Given the description of an element on the screen output the (x, y) to click on. 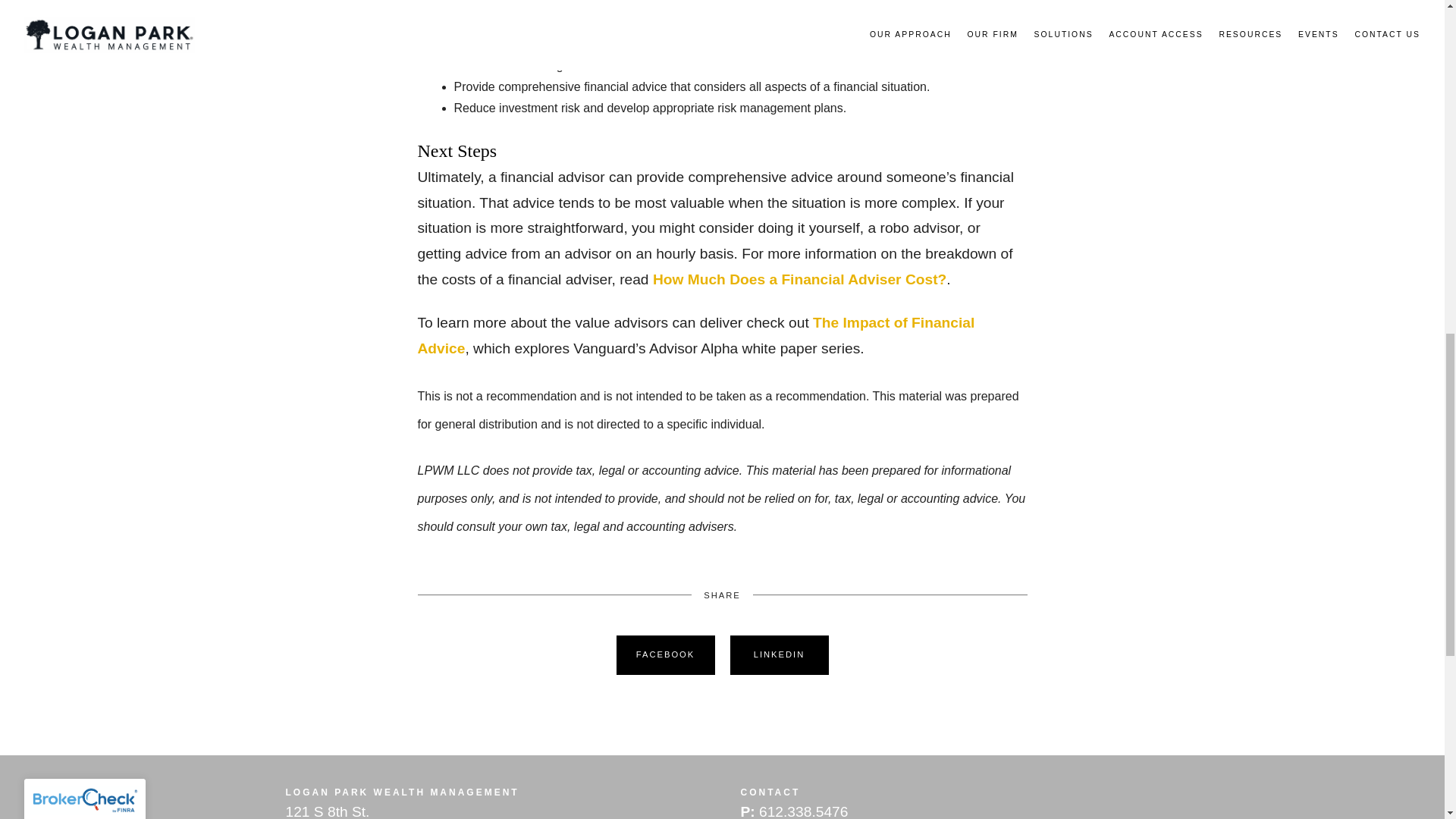
LINKEDIN (778, 654)
The Impact of Financial Advice (695, 335)
How Much Does a Financial Adviser Cost? (799, 279)
FACEBOOK (665, 654)
